Given the description of an element on the screen output the (x, y) to click on. 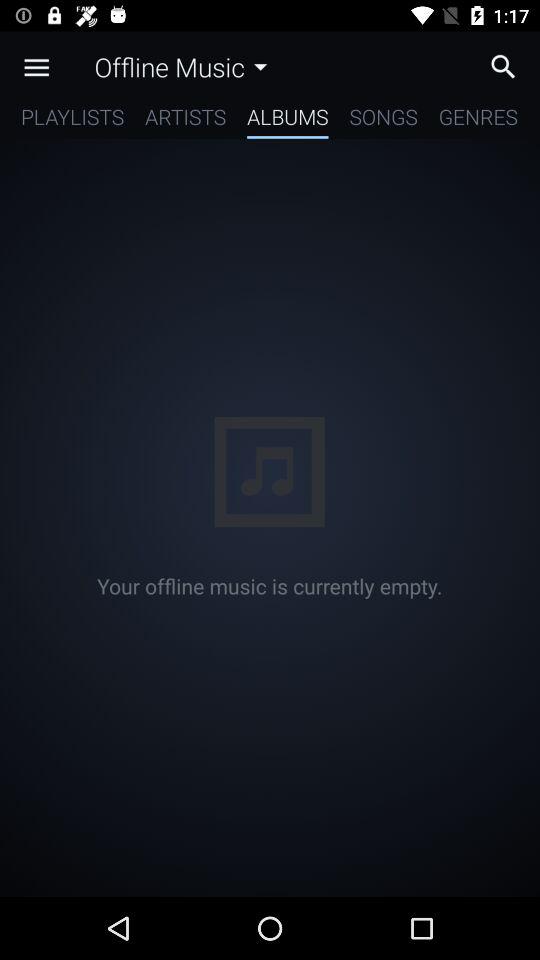
scroll until the albums icon (287, 120)
